Given the description of an element on the screen output the (x, y) to click on. 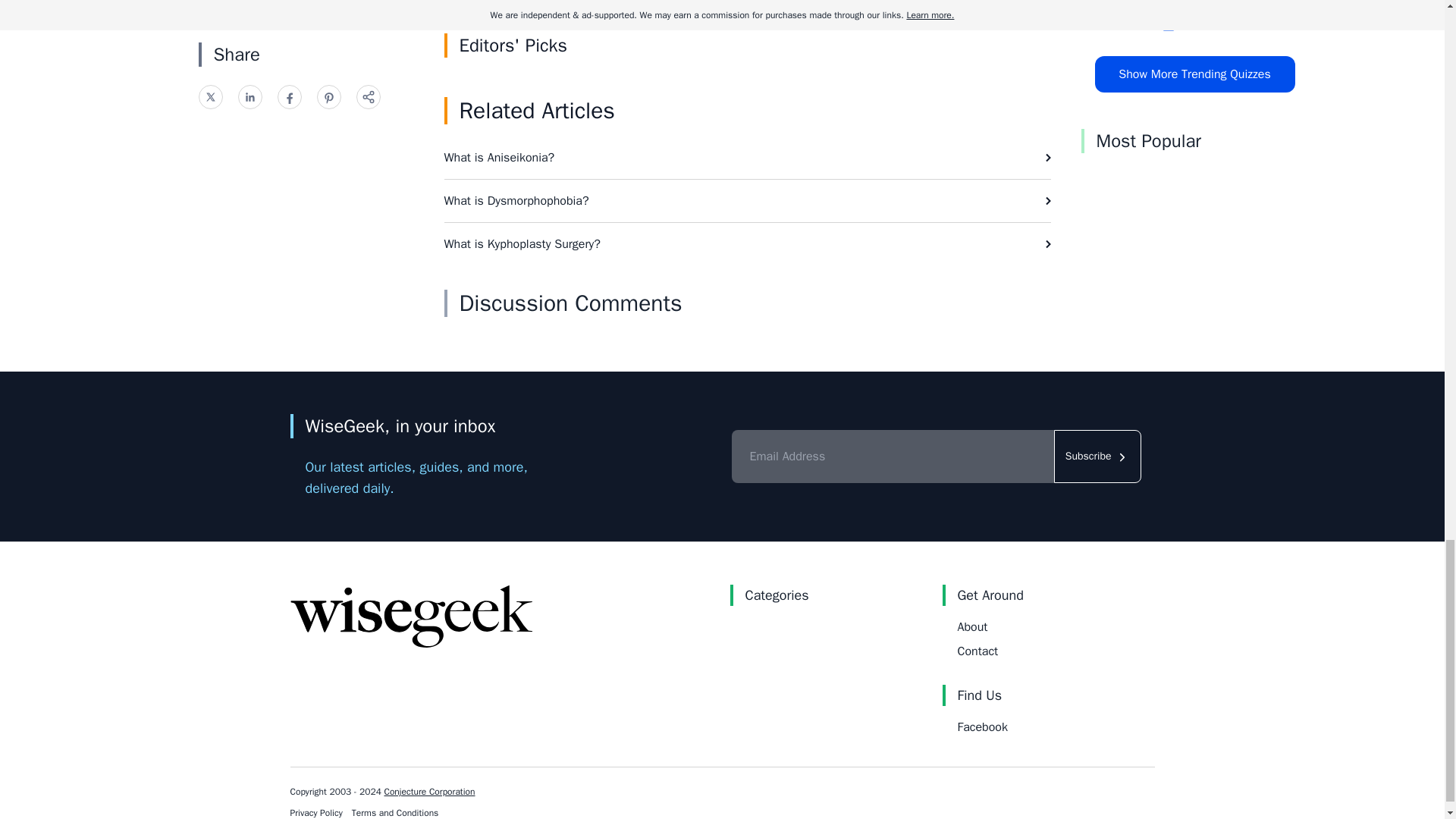
What is Dysmorphophobia? (747, 200)
What is Kyphoplasty Surgery? (747, 243)
What is Aniseikonia? (747, 157)
See our Editorial Process (595, 4)
Share Feedback (898, 4)
